Given the description of an element on the screen output the (x, y) to click on. 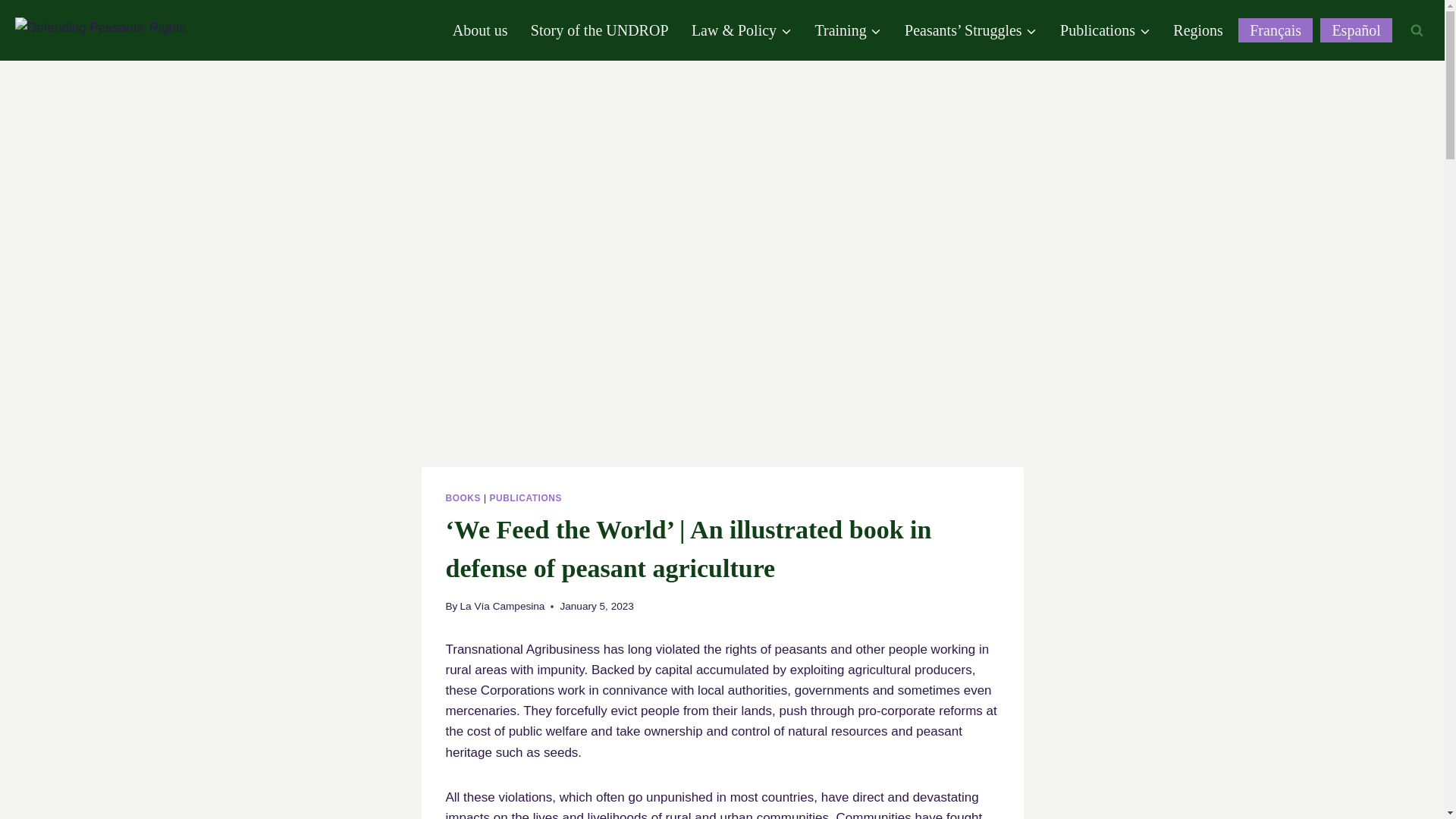
PUBLICATIONS (525, 498)
About us (480, 30)
Story of the UNDROP (599, 30)
BOOKS (463, 498)
Training (848, 30)
Regions (1197, 30)
Publications (1104, 30)
